Given the description of an element on the screen output the (x, y) to click on. 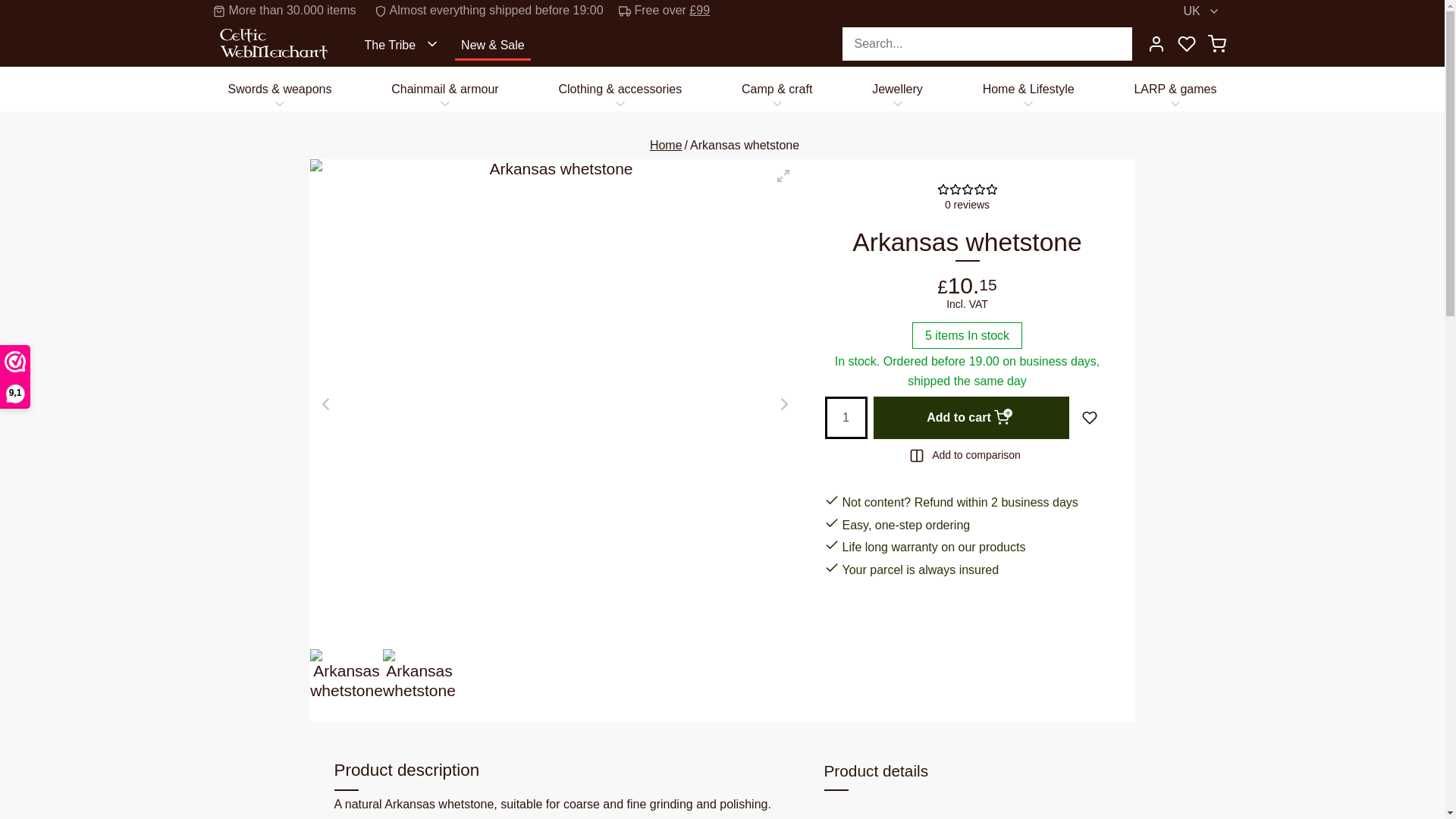
1 (846, 417)
The Tribe (403, 43)
More than 30.000 items (296, 10)
Cart (1216, 43)
Account (1155, 43)
Almost everything shipped before 19:00 (500, 10)
buy sword (279, 88)
More than 30.000 items (296, 10)
The Tribe (403, 43)
Wishlist (1185, 43)
Almost everything shipped before 19:00 (500, 10)
